Given the description of an element on the screen output the (x, y) to click on. 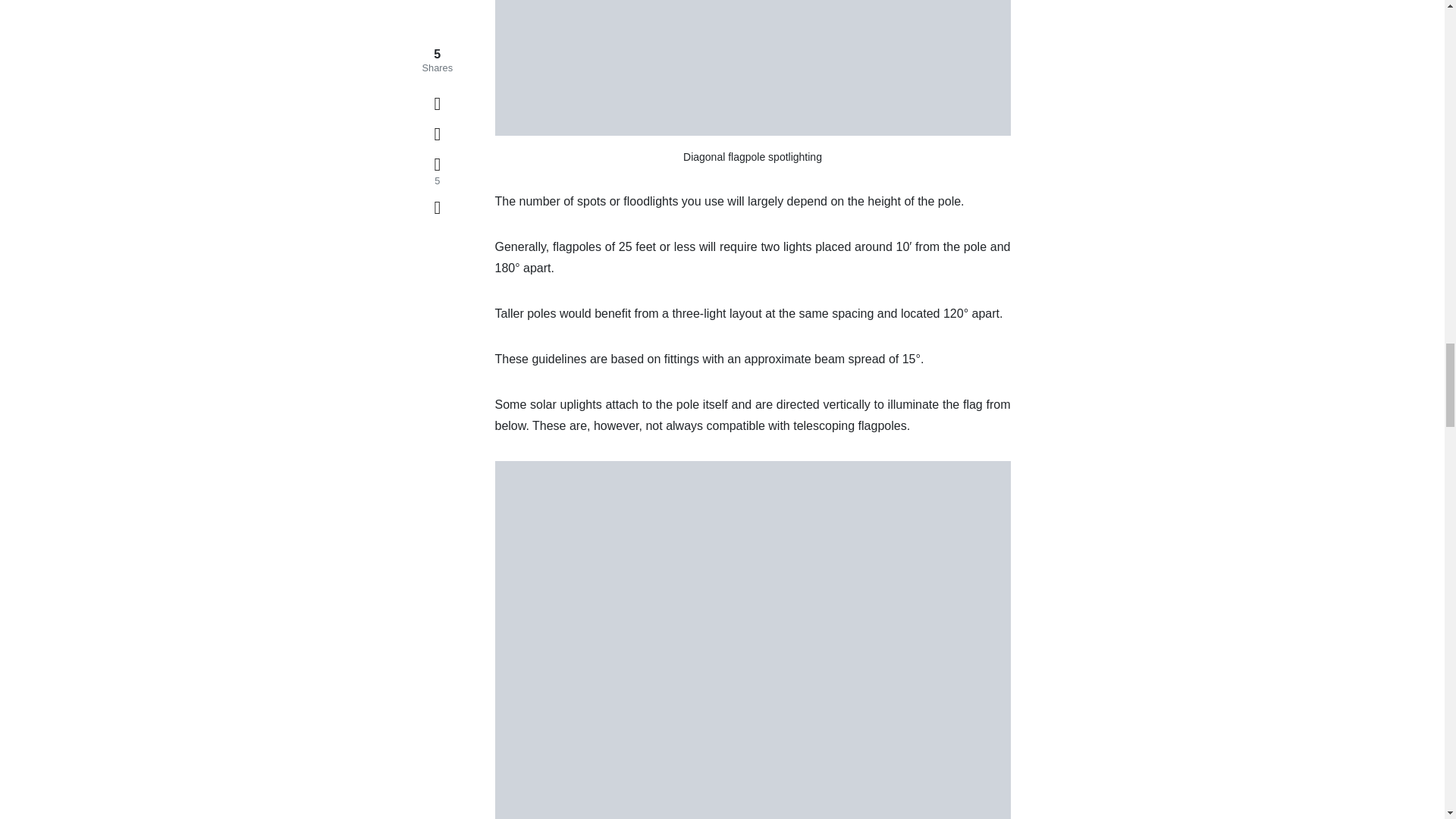
Diagonal flagpole spot lighting.  (752, 67)
